Given the description of an element on the screen output the (x, y) to click on. 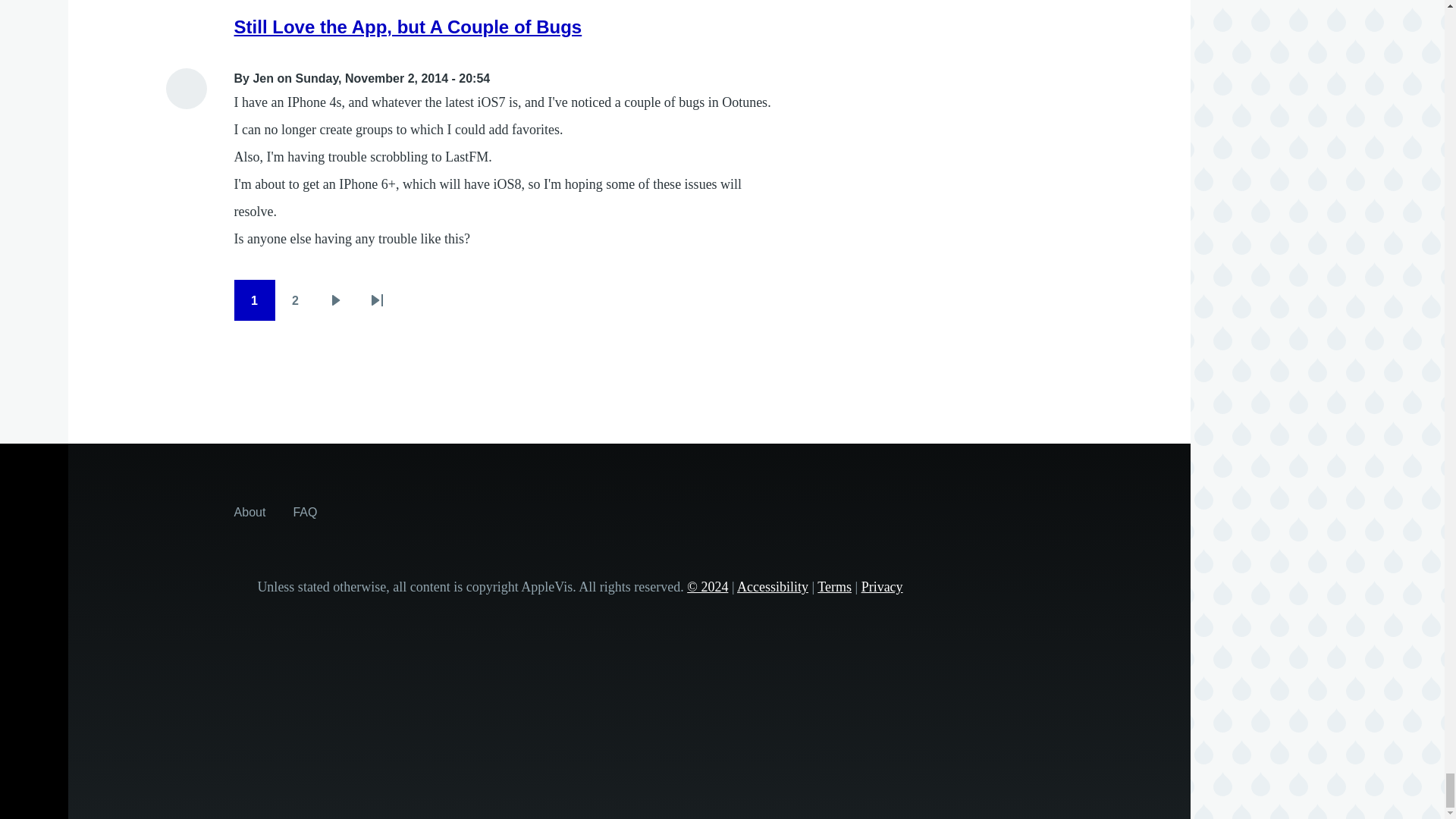
Answers to some frequently asked questions about AppleVis (304, 511)
Go to page 2 (295, 300)
Go to next page (335, 300)
Go to last page (376, 300)
About (250, 511)
